Given the description of an element on the screen output the (x, y) to click on. 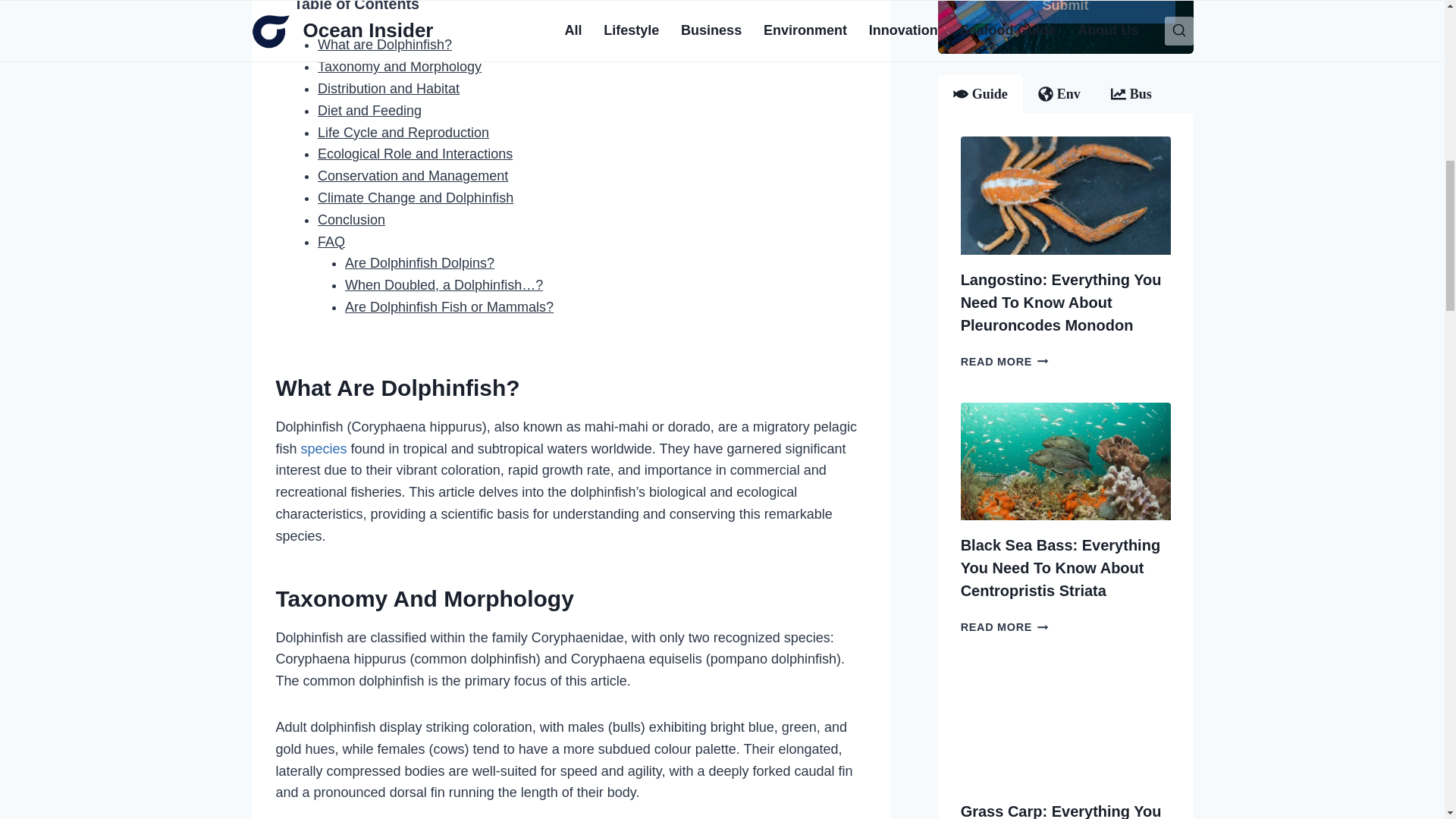
Are Dolphinfish Dolpins? (420, 263)
Diet and Feeding (369, 110)
Life Cycle and Reproduction (403, 132)
Ecological Role and Interactions (414, 153)
species (322, 448)
Conservation and Management (412, 175)
Taxonomy and Morphology (399, 66)
Distribution and Habitat (388, 88)
What are Dolphinfish? (384, 44)
FAQ (331, 241)
Conclusion (351, 219)
Are Dolphinfish Fish or Mammals? (449, 306)
Climate Change and Dolphinfish (415, 197)
